Given the description of an element on the screen output the (x, y) to click on. 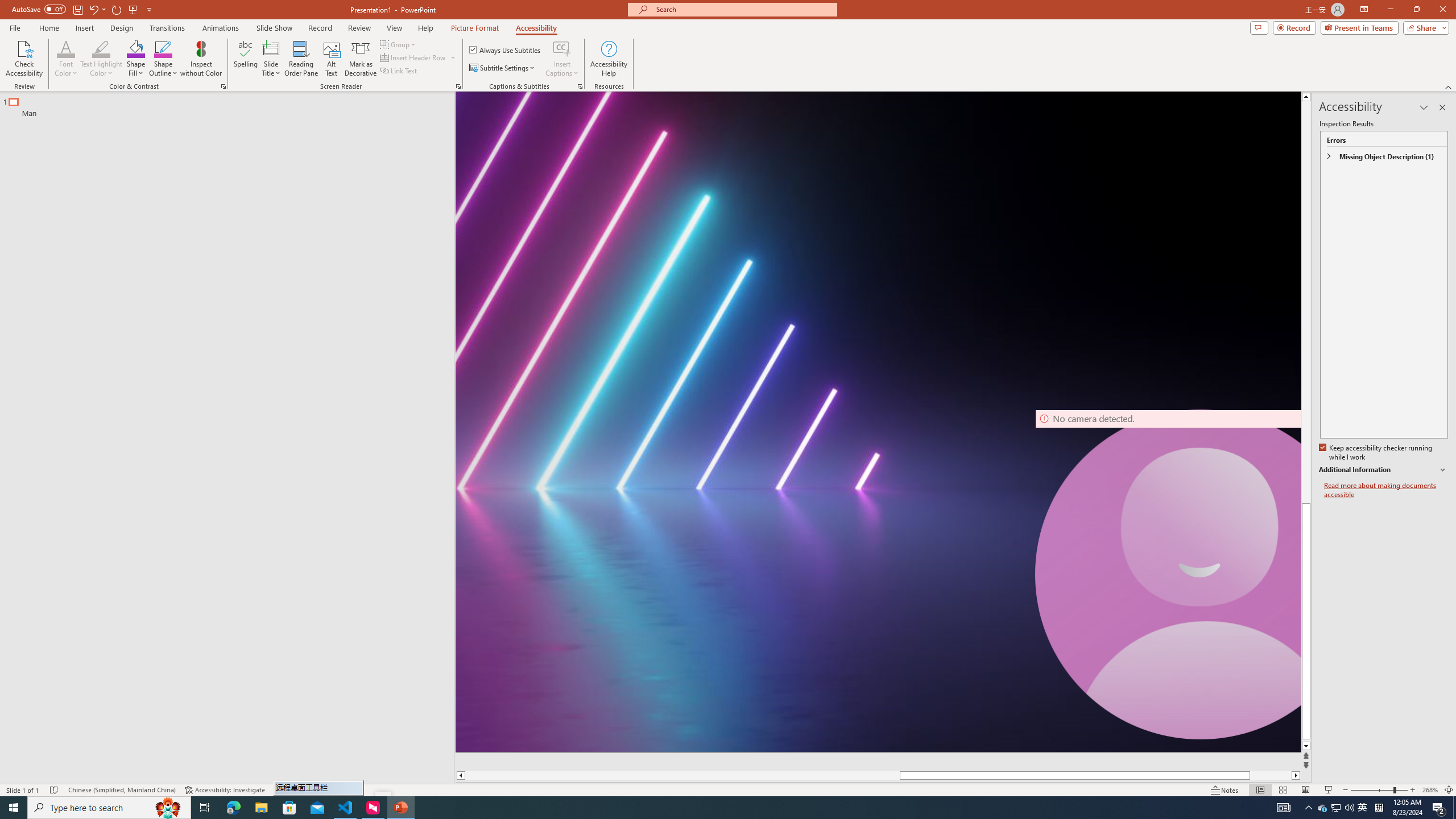
Captions & Subtitles (580, 85)
Insert Captions (561, 58)
Redo (117, 9)
Task Pane Options (1423, 107)
Collapse the Ribbon (1448, 86)
Shape Fill (135, 58)
Microsoft search (742, 9)
Accessibility Help (608, 58)
Picture Format (475, 28)
Spell Check No Errors (54, 790)
Text Highlight Color (100, 58)
Subtitle Settings (502, 67)
Insert Captions (561, 48)
Comments (1259, 27)
